Given the description of an element on the screen output the (x, y) to click on. 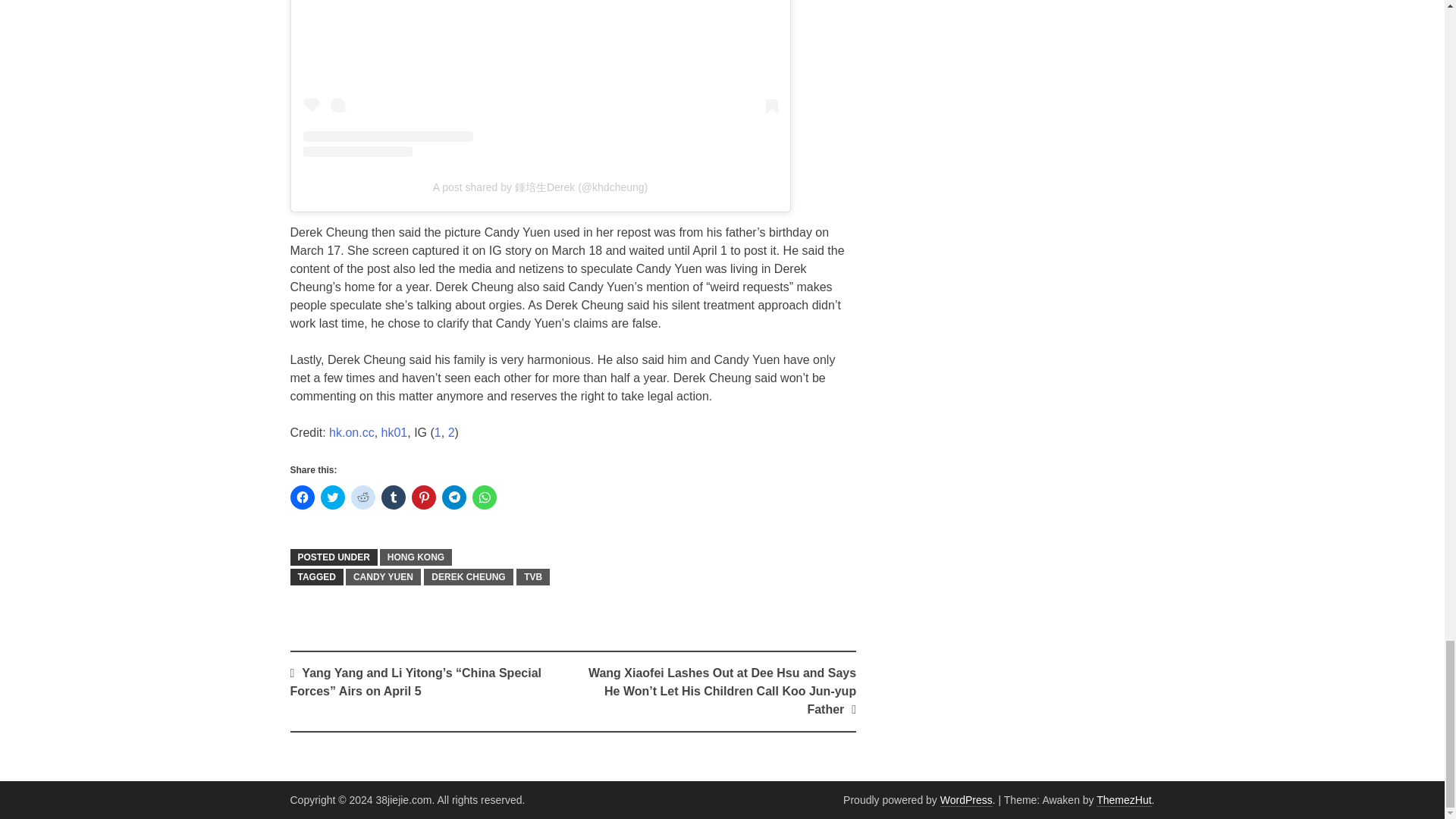
Click to share on Telegram (453, 497)
hk.on.cc (351, 431)
Click to share on Twitter (331, 497)
hk01 (394, 431)
View this post on Instagram (539, 79)
Click to share on Facebook (301, 497)
WordPress (966, 799)
Click to share on Tumblr (392, 497)
Click to share on Reddit (362, 497)
Click to share on Pinterest (422, 497)
